Given the description of an element on the screen output the (x, y) to click on. 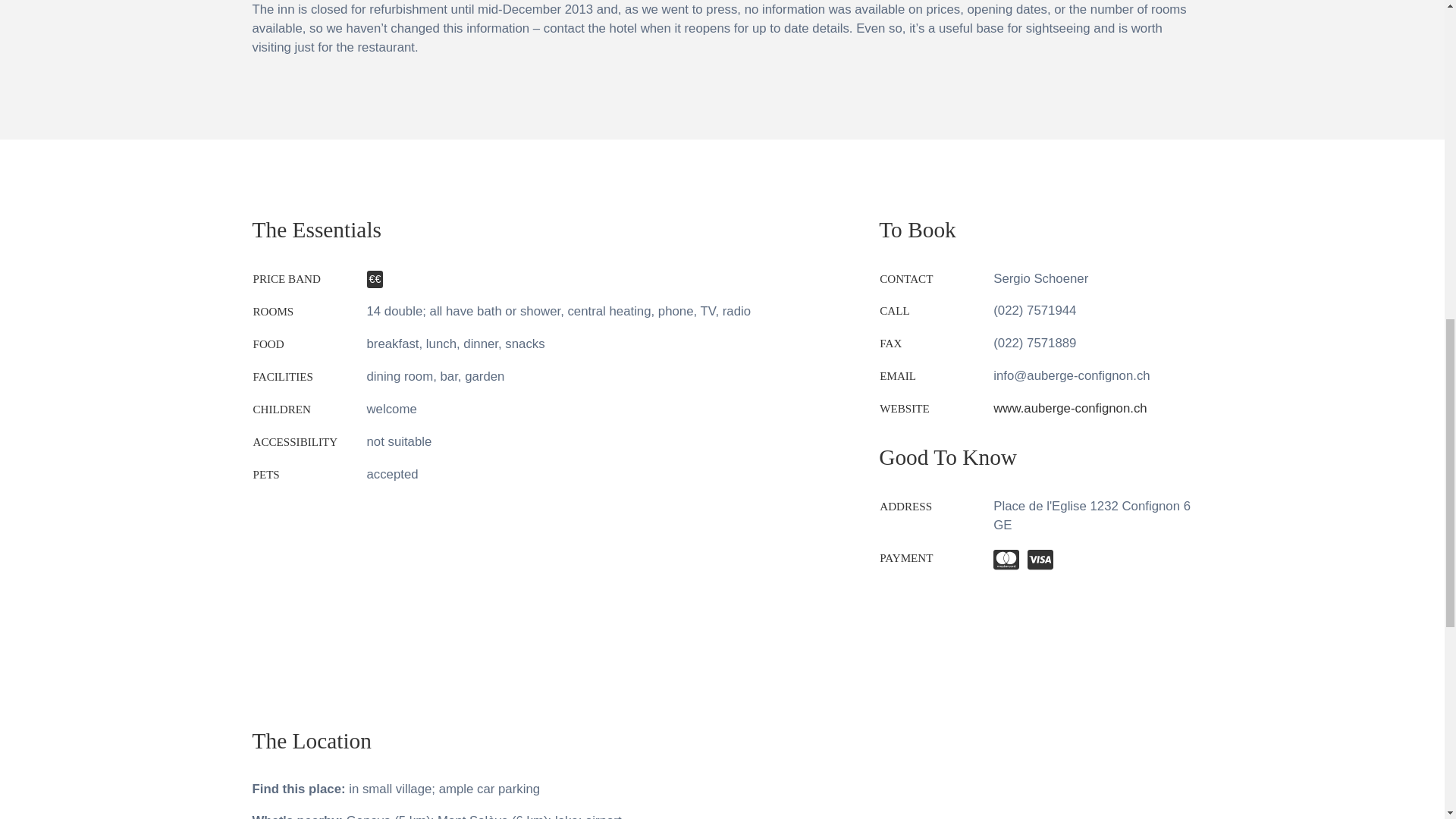
www.auberge-confignon.ch (1069, 408)
Visit Website (1069, 408)
